Given the description of an element on the screen output the (x, y) to click on. 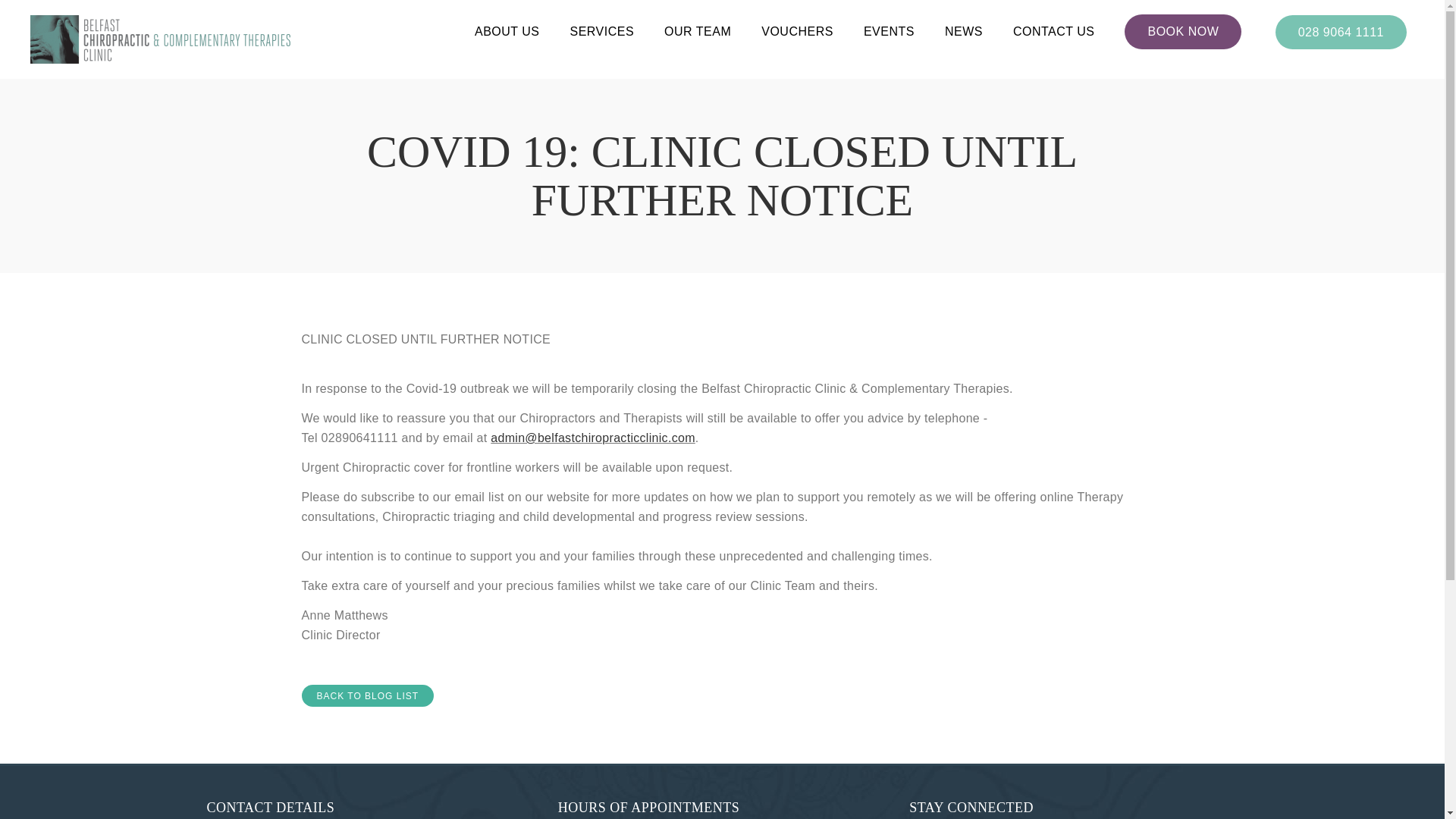
028 9064 1111 (1340, 32)
OUR TEAM (696, 32)
BACK TO BLOG LIST (367, 695)
SERVICES (601, 32)
CONTACT US (1053, 32)
BOOK NOW (1182, 31)
ABOUT US (507, 32)
VOUCHERS (796, 32)
EVENTS (888, 32)
NEWS (963, 32)
